Given the description of an element on the screen output the (x, y) to click on. 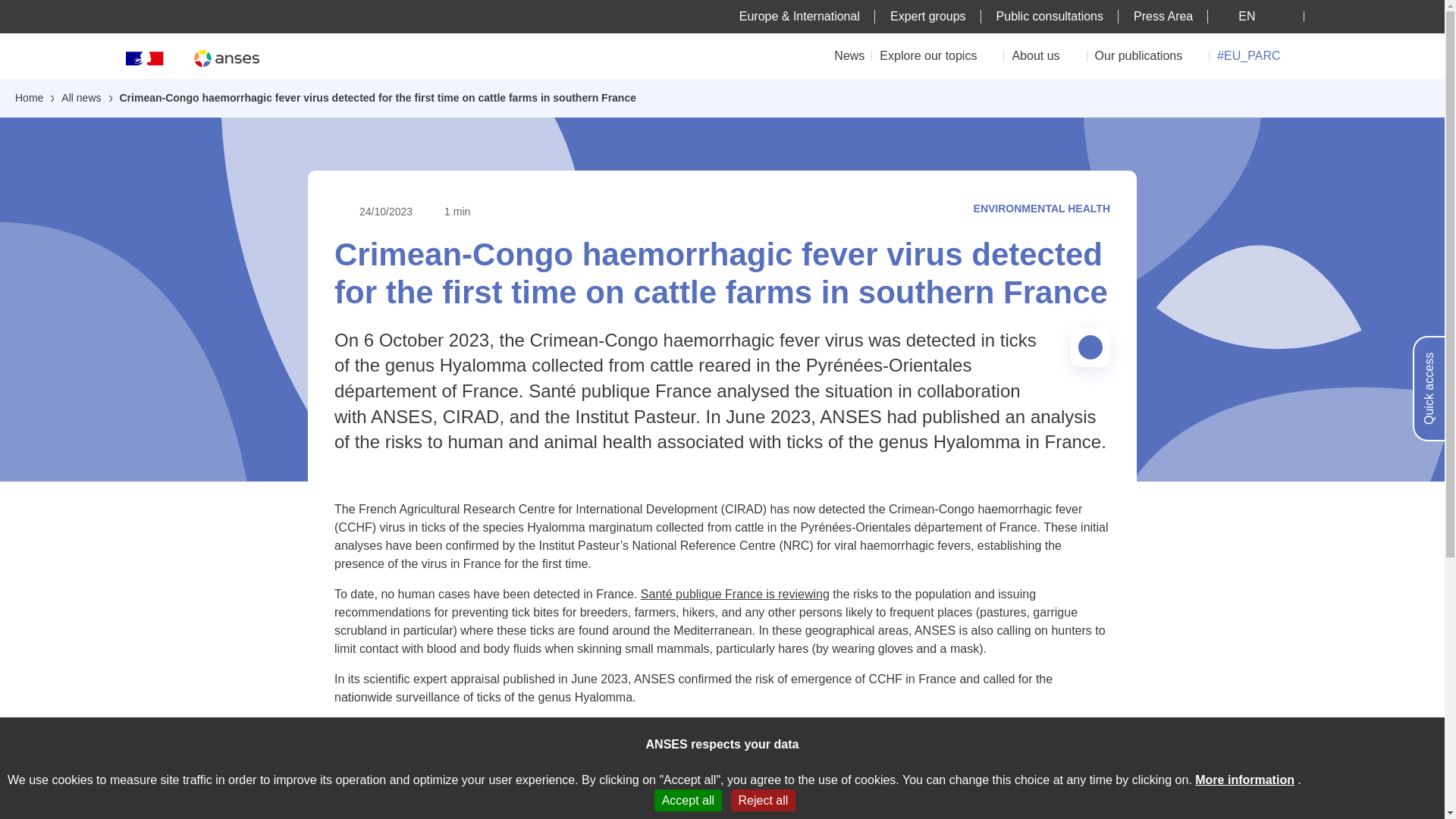
About us (1044, 55)
Expert groups (927, 15)
Explore our topics (937, 55)
Anses, back to home (226, 58)
News (849, 55)
Press Area (1163, 15)
Public consultations (1049, 15)
EN (1255, 16)
